Given the description of an element on the screen output the (x, y) to click on. 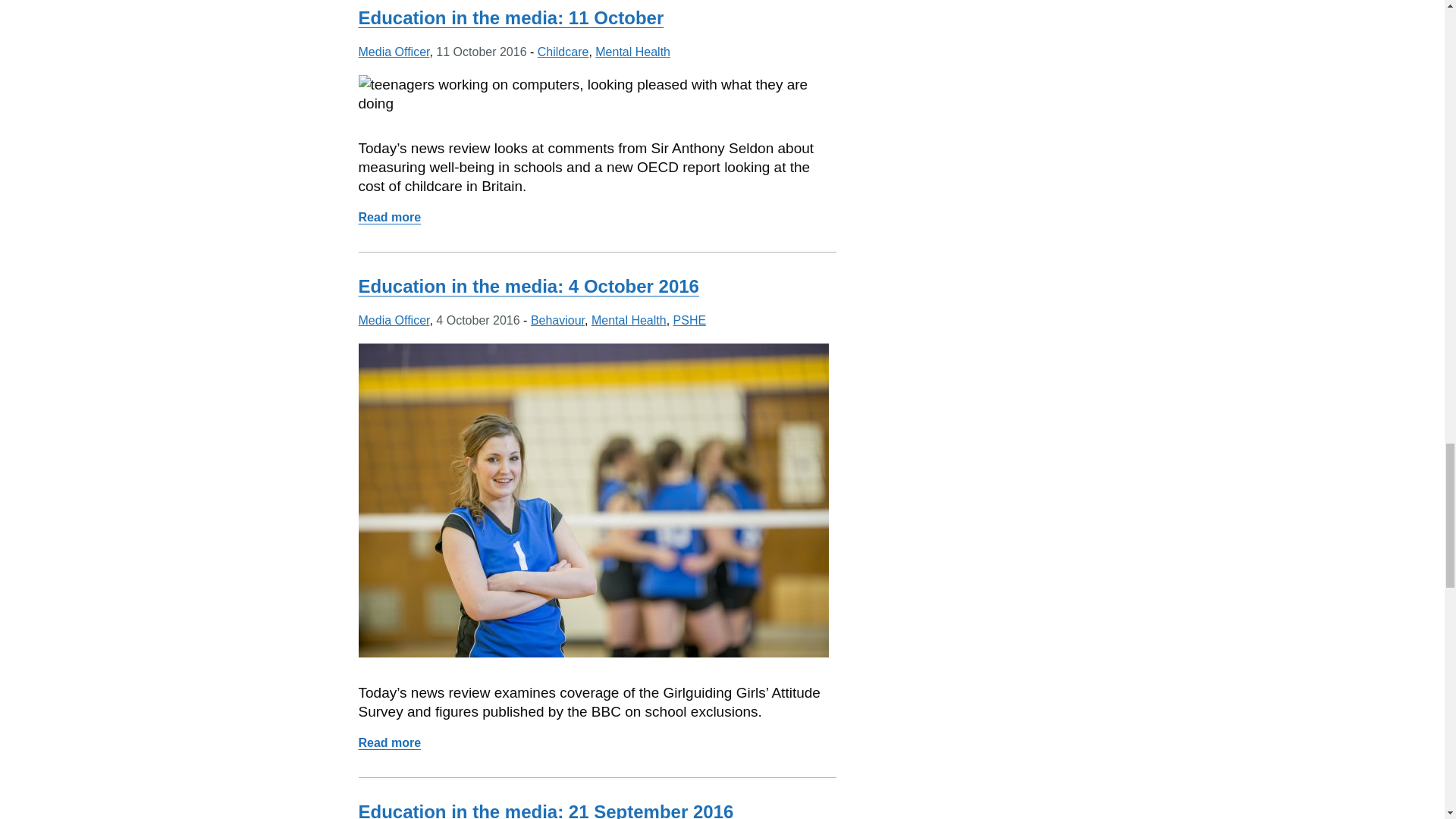
Posts by Media Officer (393, 51)
Education in the media: 4 October 2016 (528, 286)
Posts by Media Officer (393, 319)
Media Officer (393, 51)
Media Officer (393, 319)
Childcare (563, 51)
Education in the media: 11 October (510, 17)
Mental Health (632, 51)
